Given the description of an element on the screen output the (x, y) to click on. 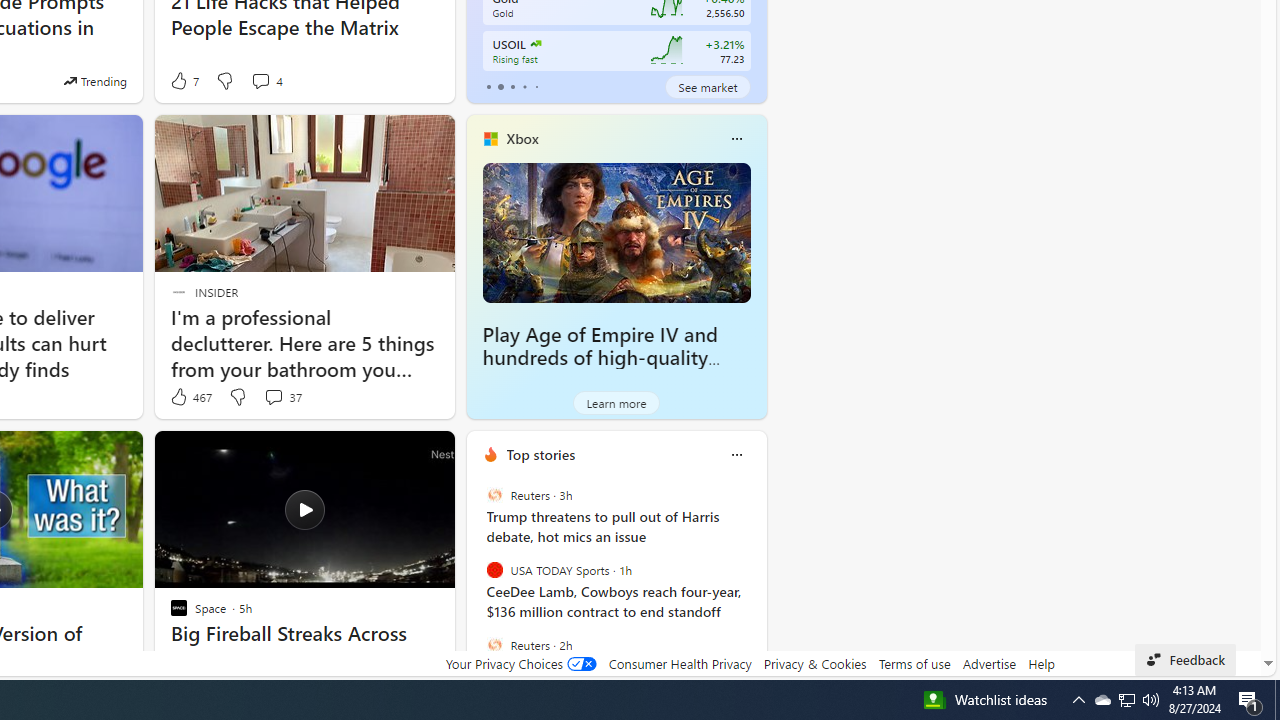
467 Like (190, 397)
View comments 4 Comment (260, 80)
View comments 37 Comment (273, 396)
Terms of use (914, 663)
tab-1 (500, 86)
US Oil WTI (534, 43)
tab-0 (488, 86)
previous (476, 583)
See market (708, 86)
Top stories (540, 454)
tab-3 (524, 86)
Advertise (989, 663)
